Given the description of an element on the screen output the (x, y) to click on. 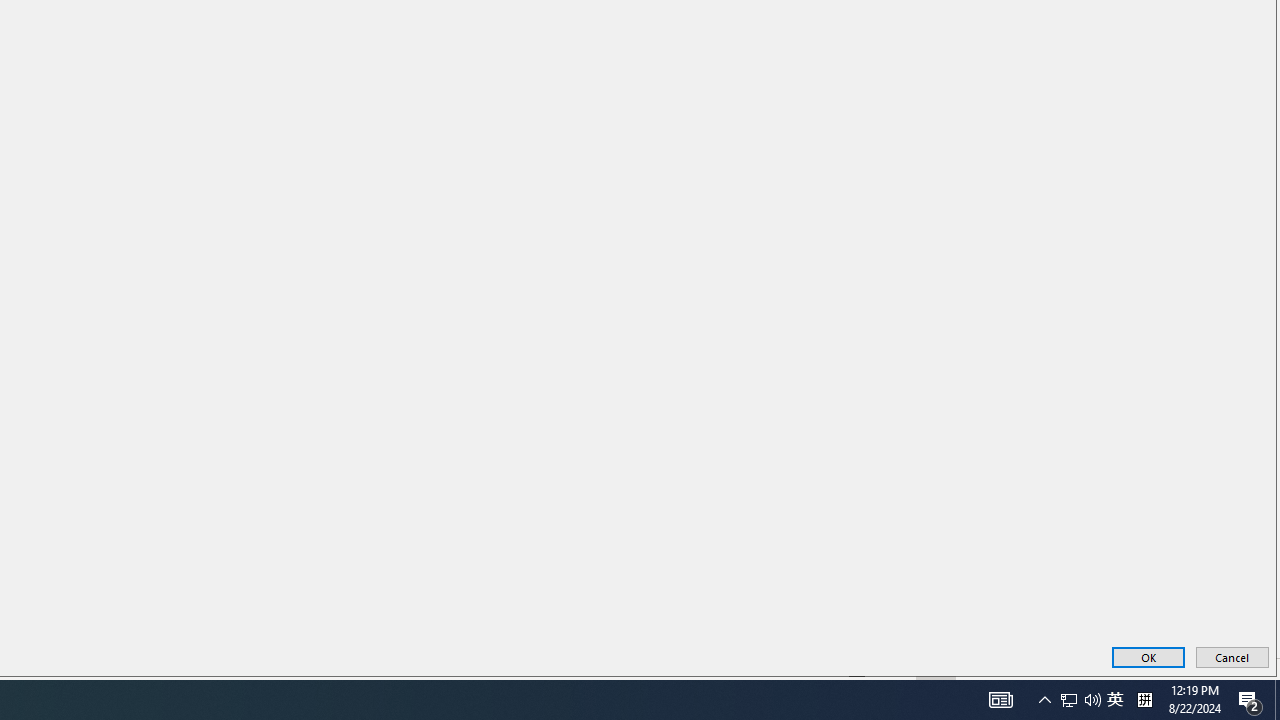
OK (1148, 656)
Cancel (1232, 656)
